Given the description of an element on the screen output the (x, y) to click on. 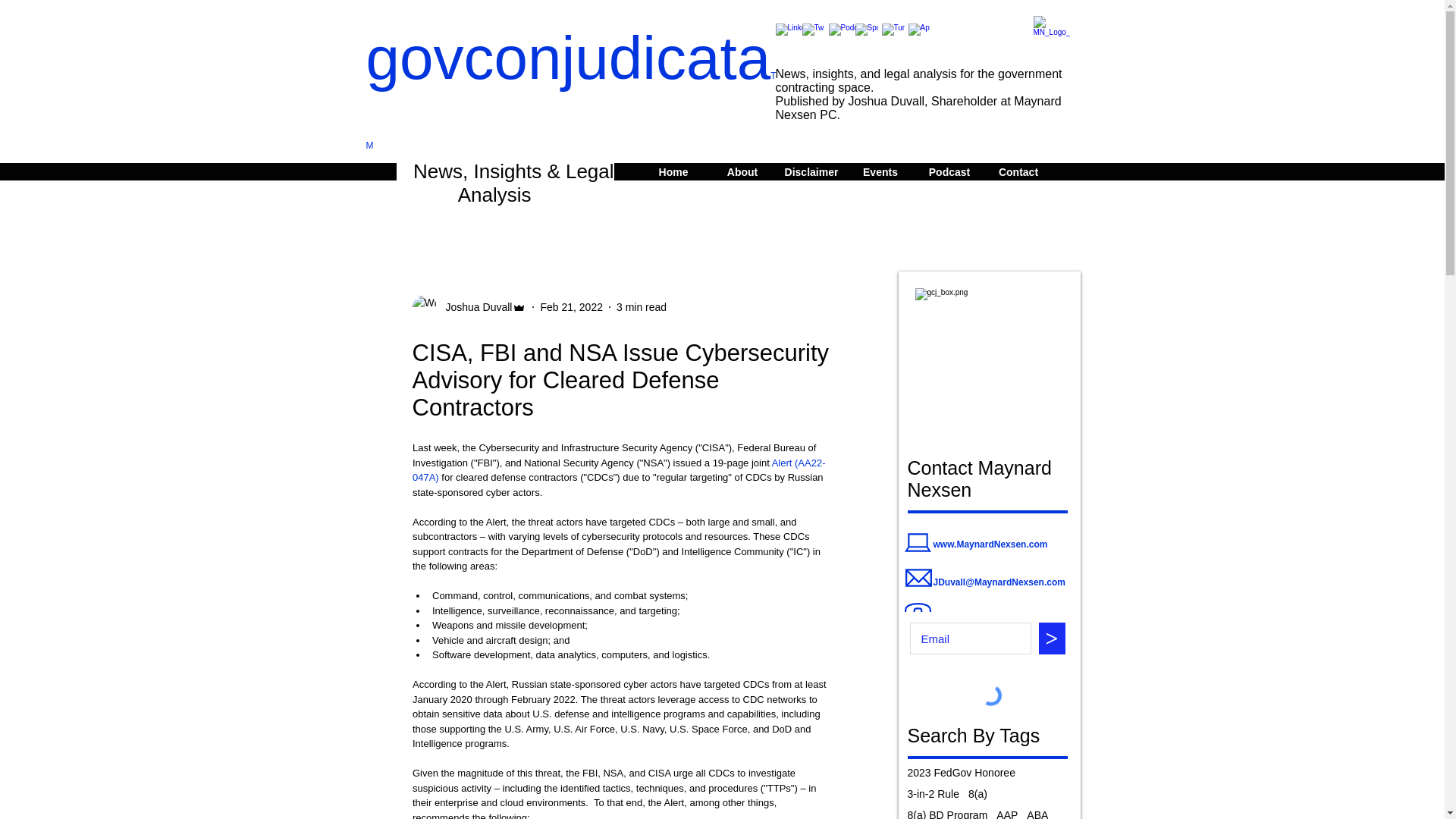
3-in-2 Rule (932, 793)
Feb 21, 2022 (571, 306)
govconjudicataTM (570, 92)
3 min read (640, 306)
Events (880, 171)
www.MaynardNexsen.com (989, 543)
Joshua Duvall (474, 306)
Podcast (949, 171)
202.868.5927 (960, 620)
Disclaimer (810, 171)
